Given the description of an element on the screen output the (x, y) to click on. 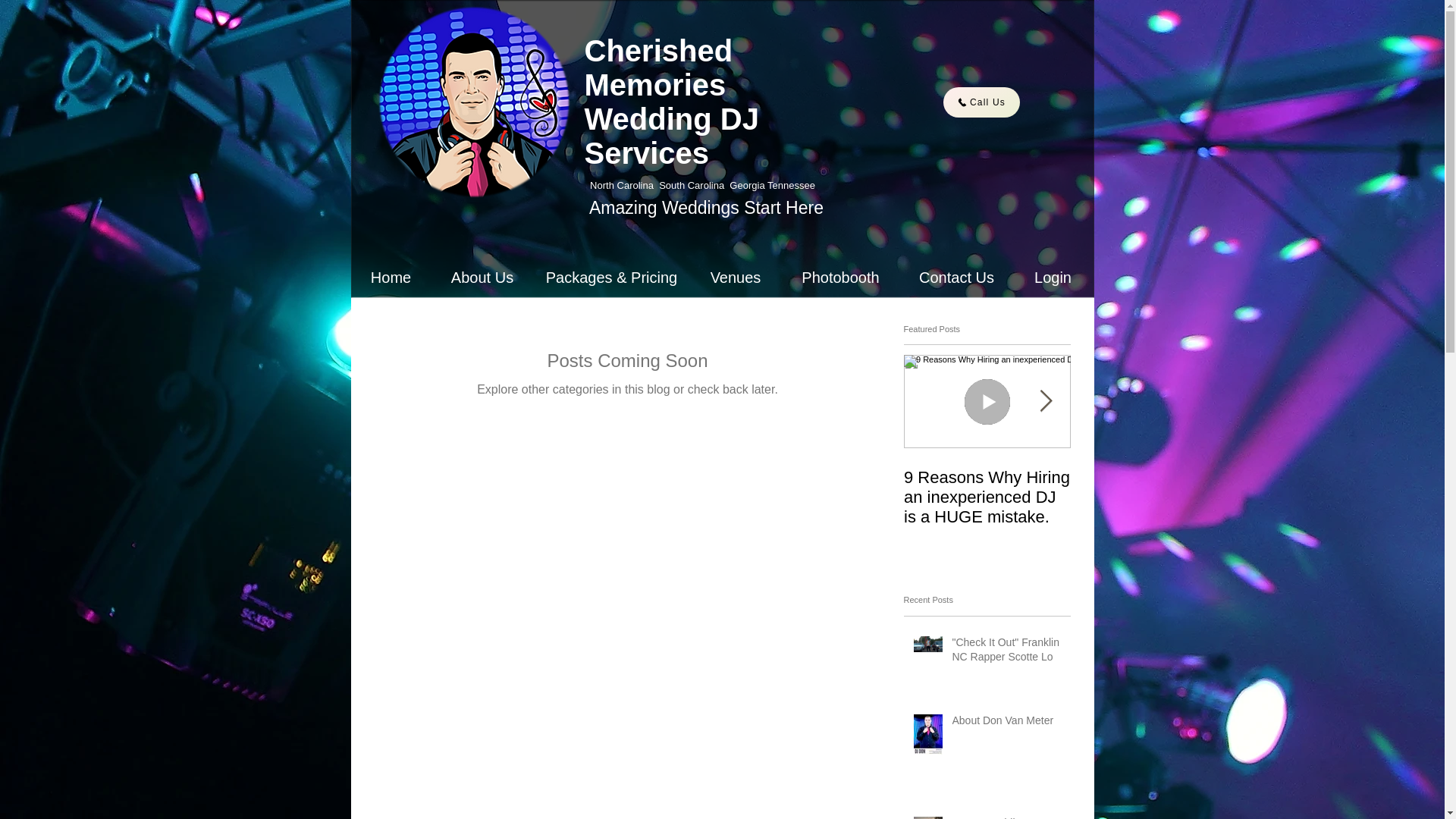
Venues (735, 277)
About Don Van Meter (1006, 723)
"Check It Out" Franklin NC Rapper Scotte Lo (1006, 652)
About Us (482, 277)
Photobooth (840, 277)
9 Reasons Why Hiring an inexperienced DJ is a HUGE mistake. (987, 497)
Contact Us (957, 277)
Home (391, 277)
Call Us (981, 101)
